Given the description of an element on the screen output the (x, y) to click on. 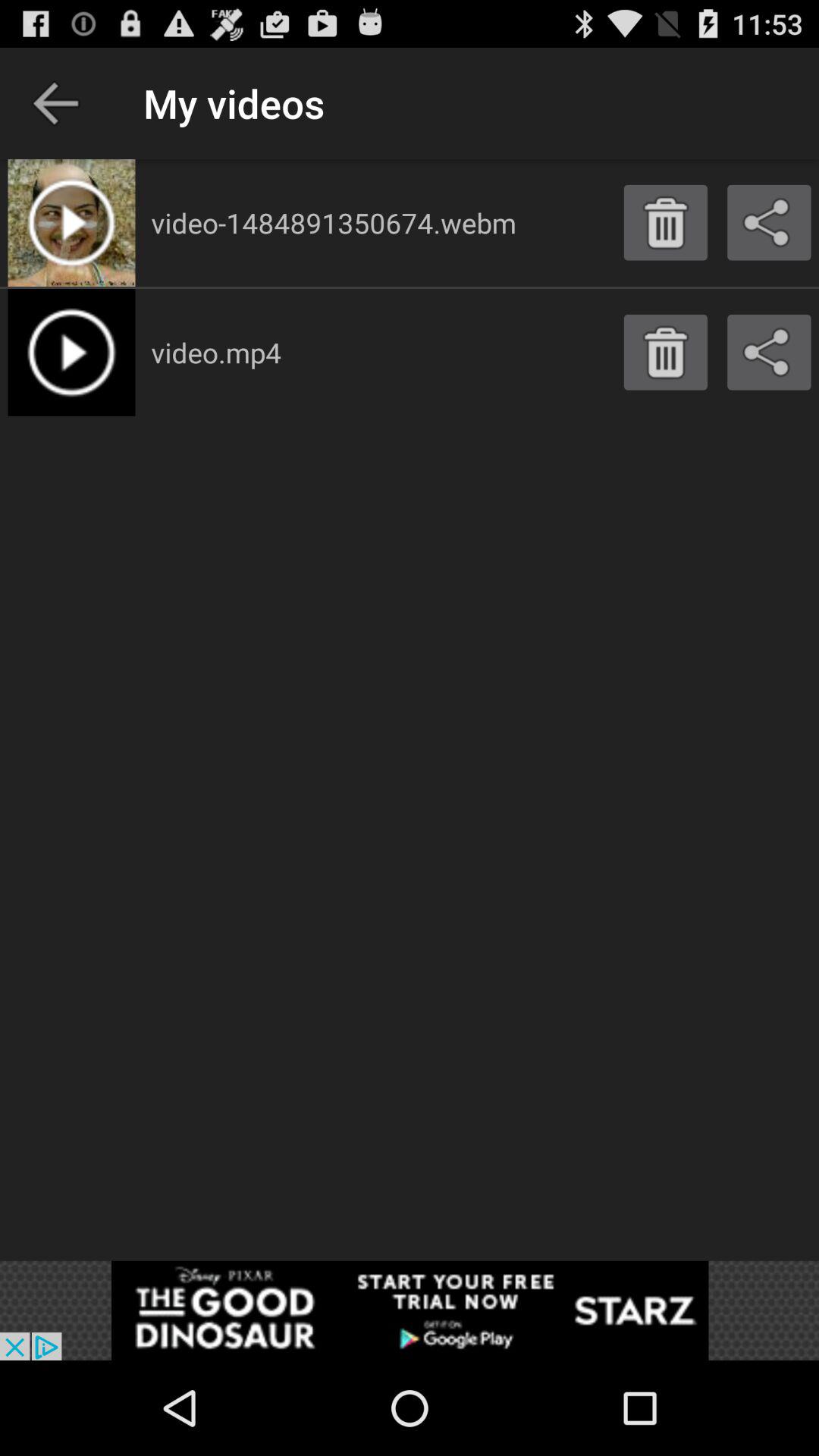
shows the advertisement tab (409, 1310)
